Given the description of an element on the screen output the (x, y) to click on. 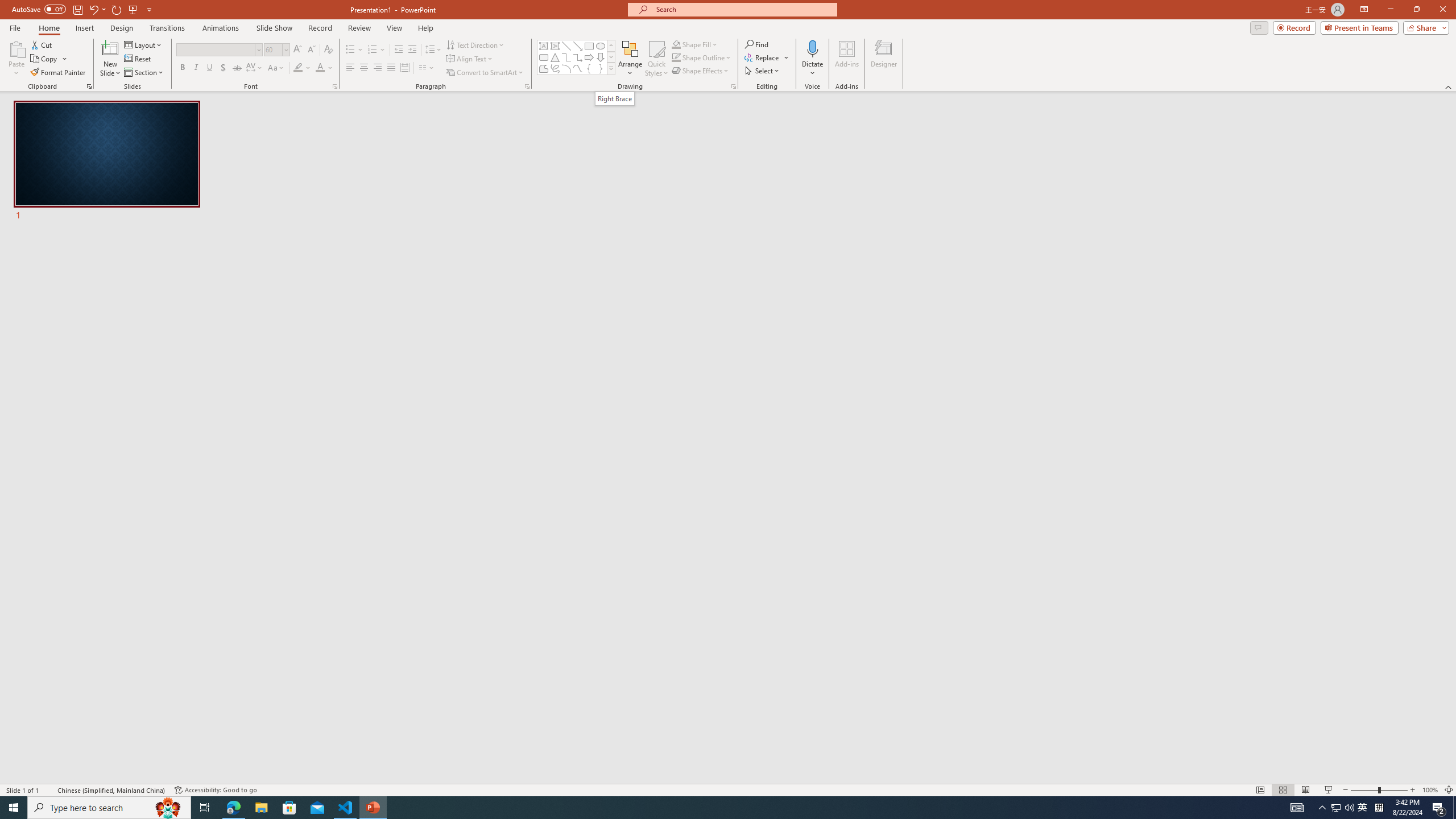
Columns (426, 67)
Align Text (470, 58)
Format Painter (58, 72)
Convert to SmartArt (485, 72)
Find... (756, 44)
Accessibility Checker Accessibility: Good to go (216, 790)
